Given the description of an element on the screen output the (x, y) to click on. 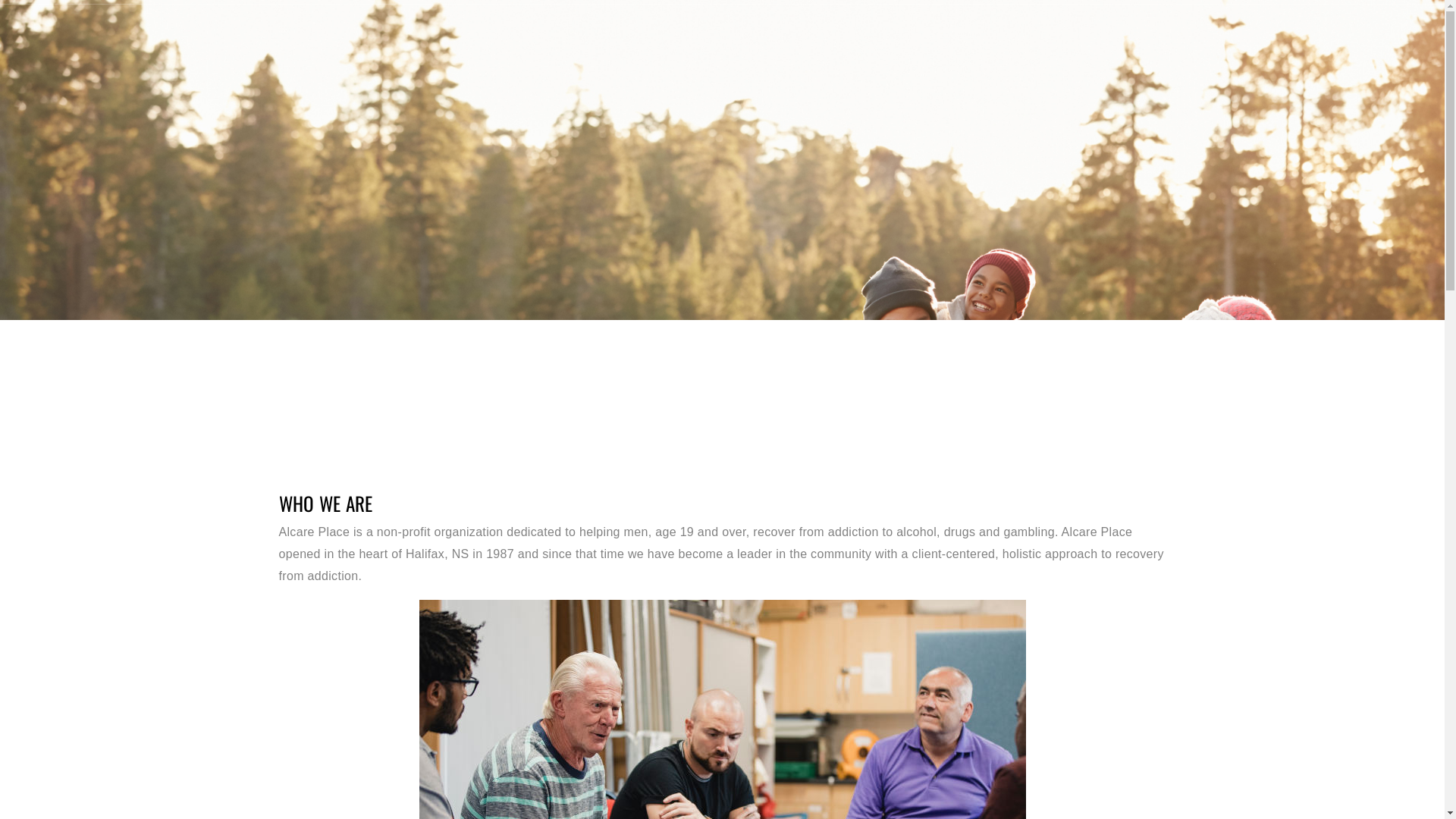
Skip to main content Element type: text (0, 0)
